Given the description of an element on the screen output the (x, y) to click on. 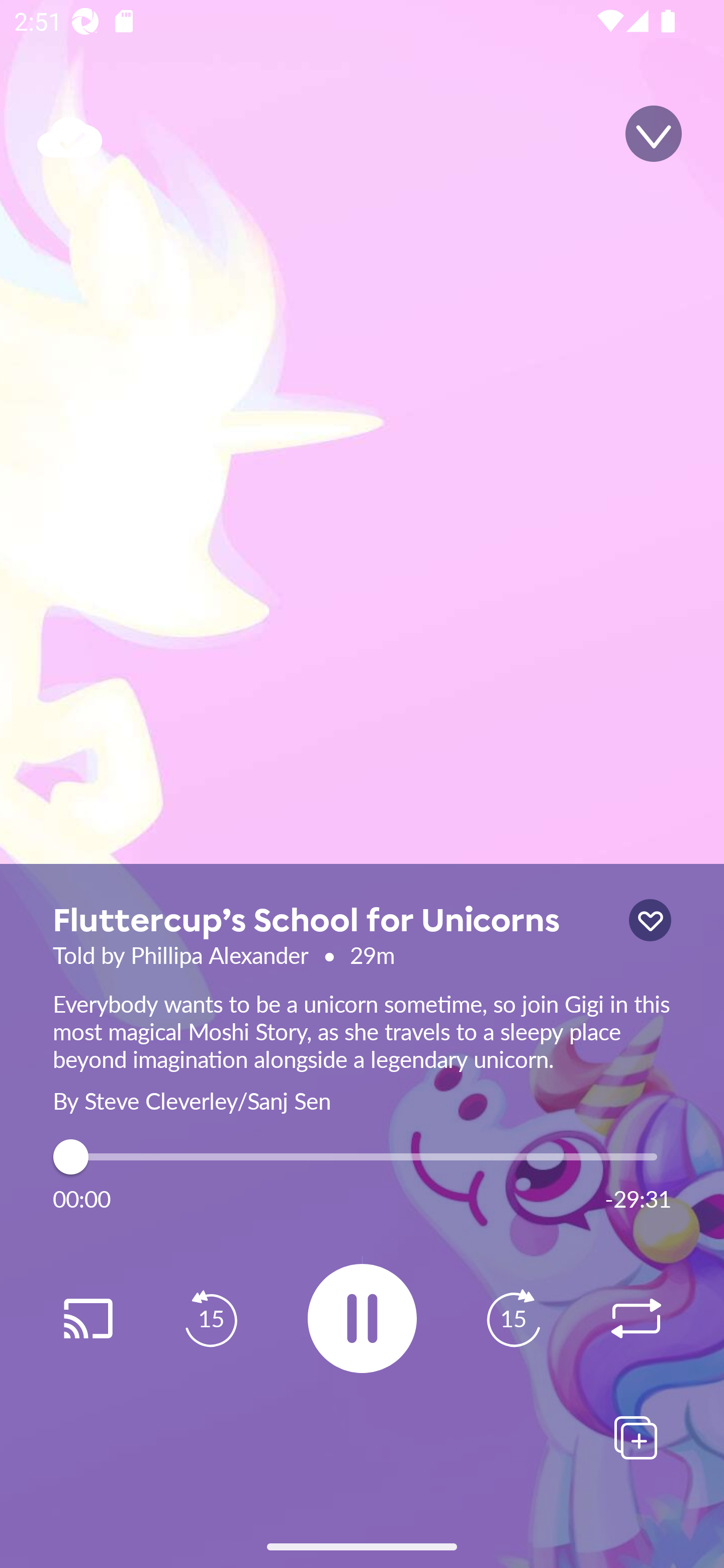
lock icon (650, 920)
5.2595936E-4 Pause (361, 1317)
Replay (87, 1318)
Replay 15 (210, 1318)
Replay 15 (513, 1318)
Replay (635, 1318)
Add To Playlists (635, 1437)
